Given the description of an element on the screen output the (x, y) to click on. 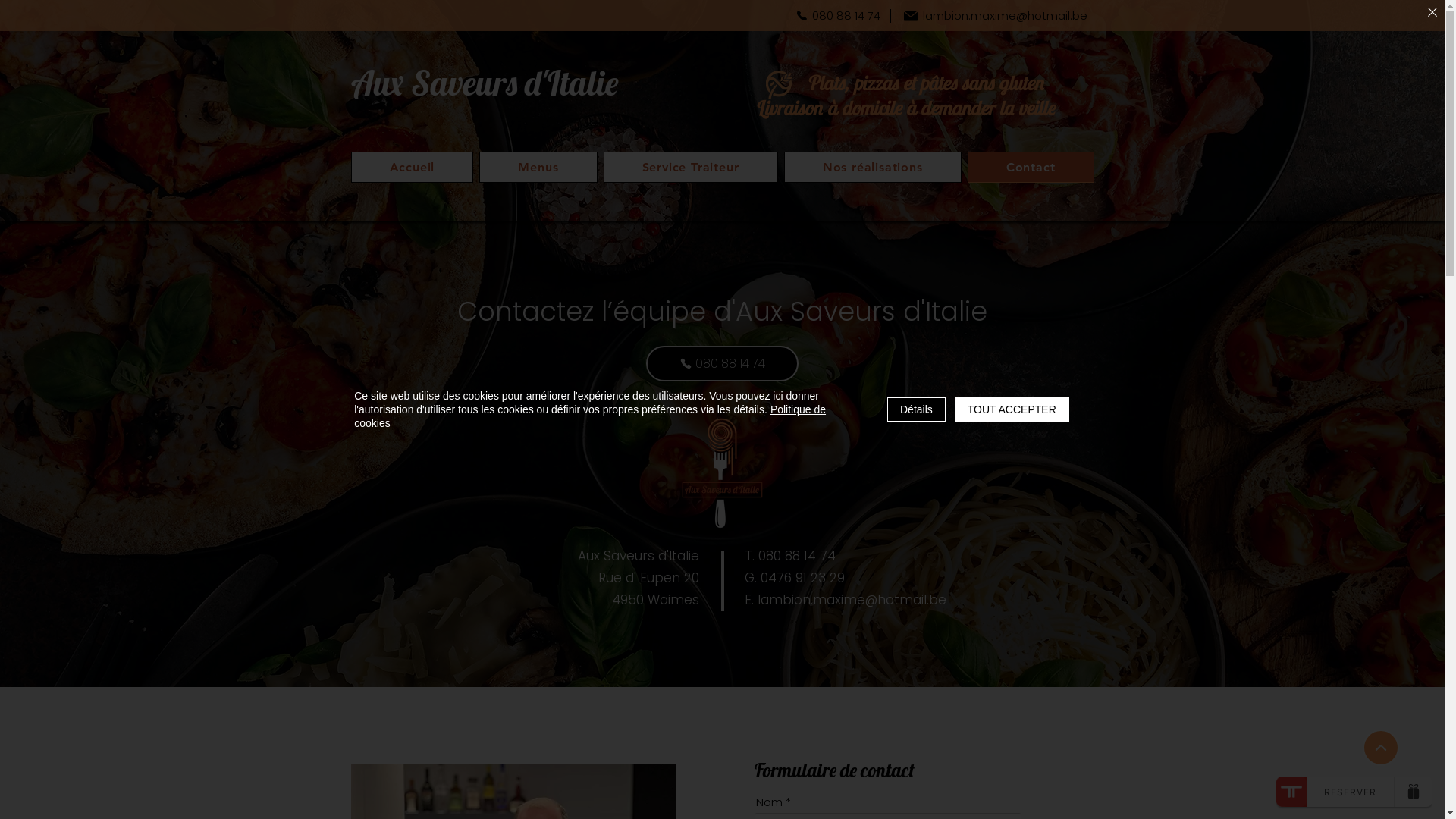
0476 91 23 29 Element type: text (801, 577)
TOUT ACCEPTER Element type: text (1011, 409)
lambion.maxime@hotmail.be Element type: text (994, 15)
Menus Element type: text (537, 166)
T. 080 88 14 74 Element type: text (789, 555)
Aux Saveurs d'Italie Element type: text (483, 82)
Formulaire de contact Element type: text (833, 769)
Accueil Element type: text (411, 166)
Service Traiteur Element type: text (690, 166)
080 88 14 74 Element type: text (837, 15)
Politique de cookies Element type: text (589, 416)
Contact Element type: text (1030, 166)
lambion.maxime@hotmail.be Element type: text (850, 599)
080 88 14 74 Element type: text (722, 363)
